Given the description of an element on the screen output the (x, y) to click on. 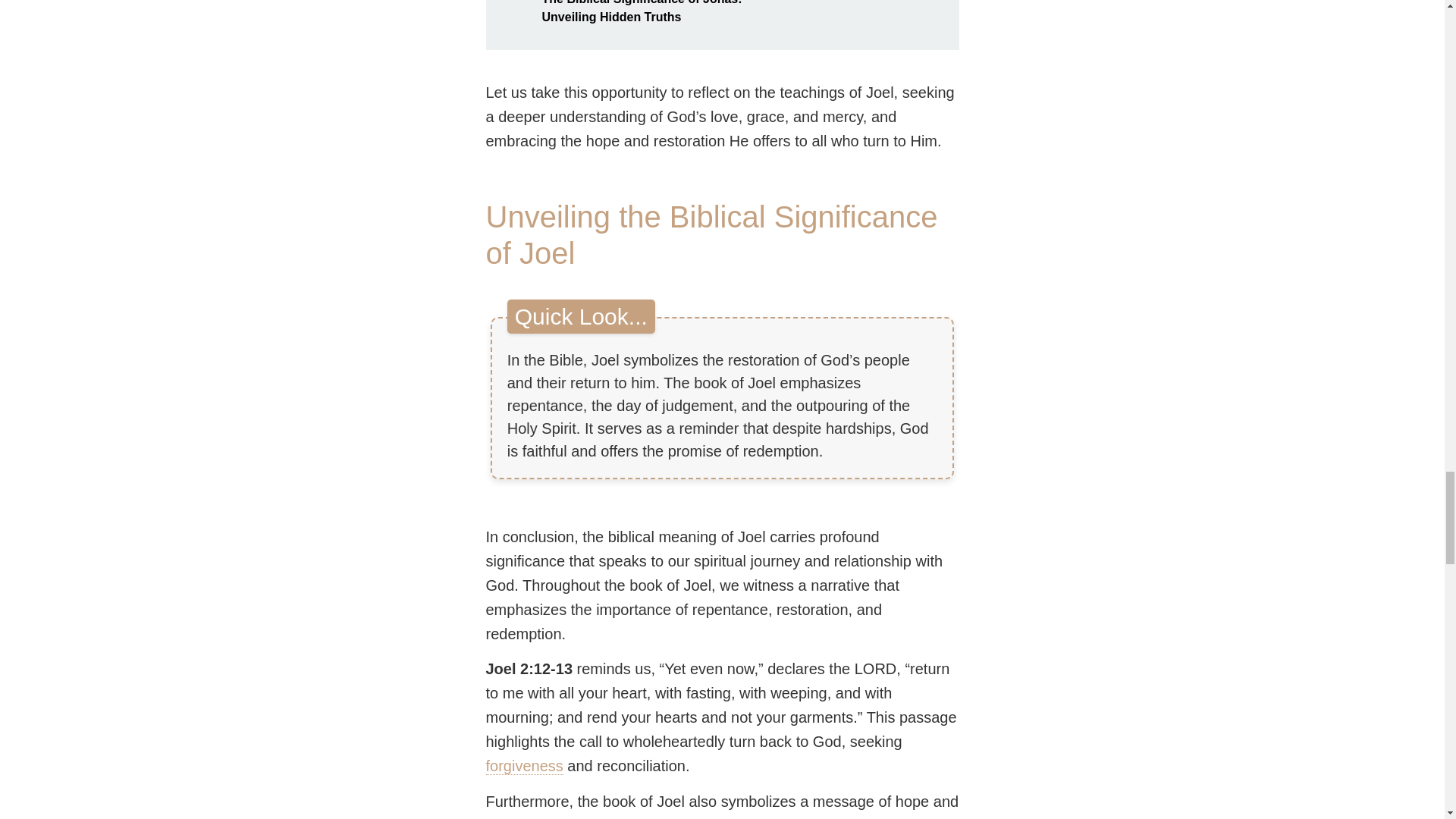
forgiveness (523, 765)
forgiveness (523, 765)
